Given the description of an element on the screen output the (x, y) to click on. 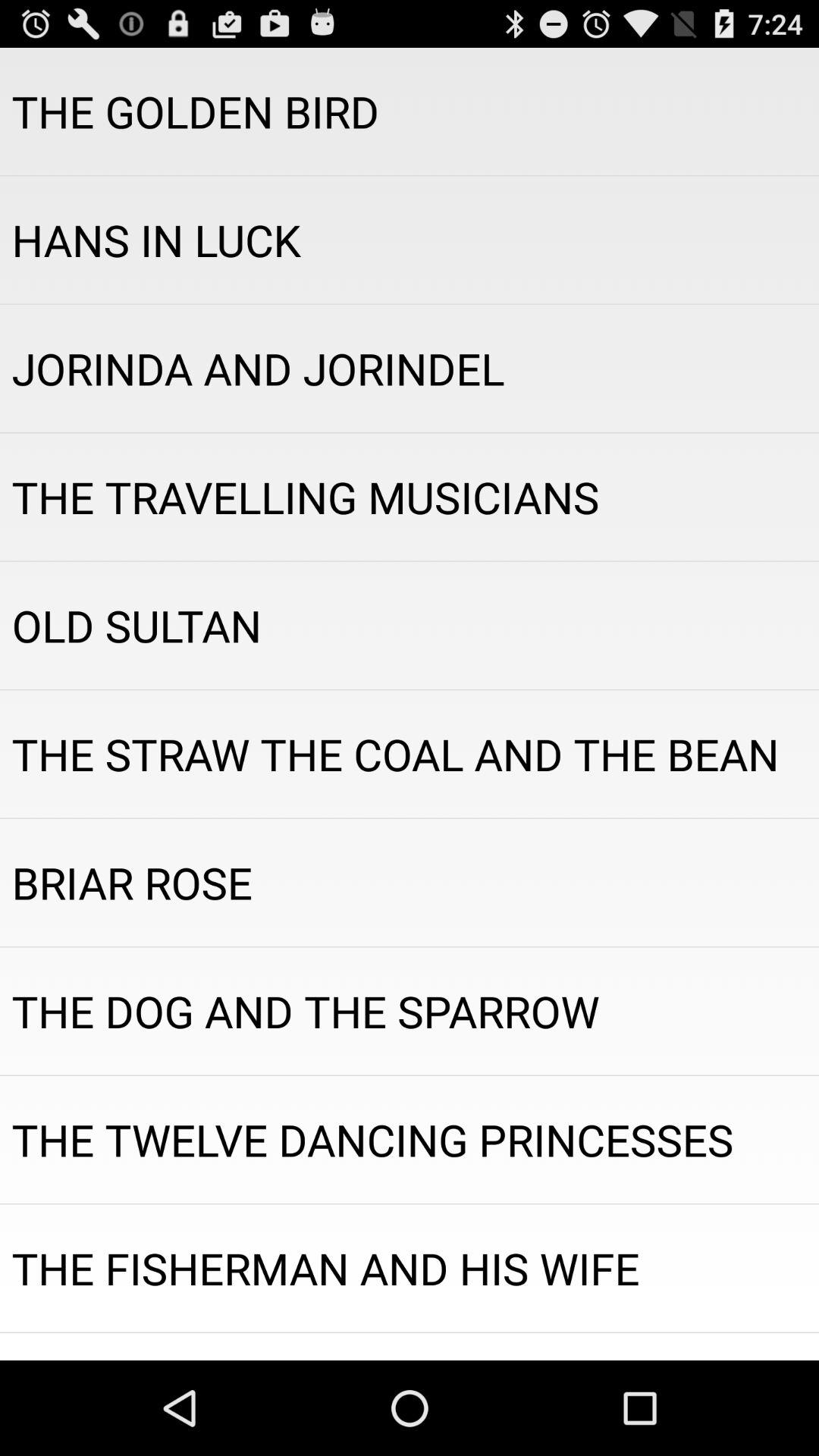
launch the the travelling musicians icon (409, 496)
